Given the description of an element on the screen output the (x, y) to click on. 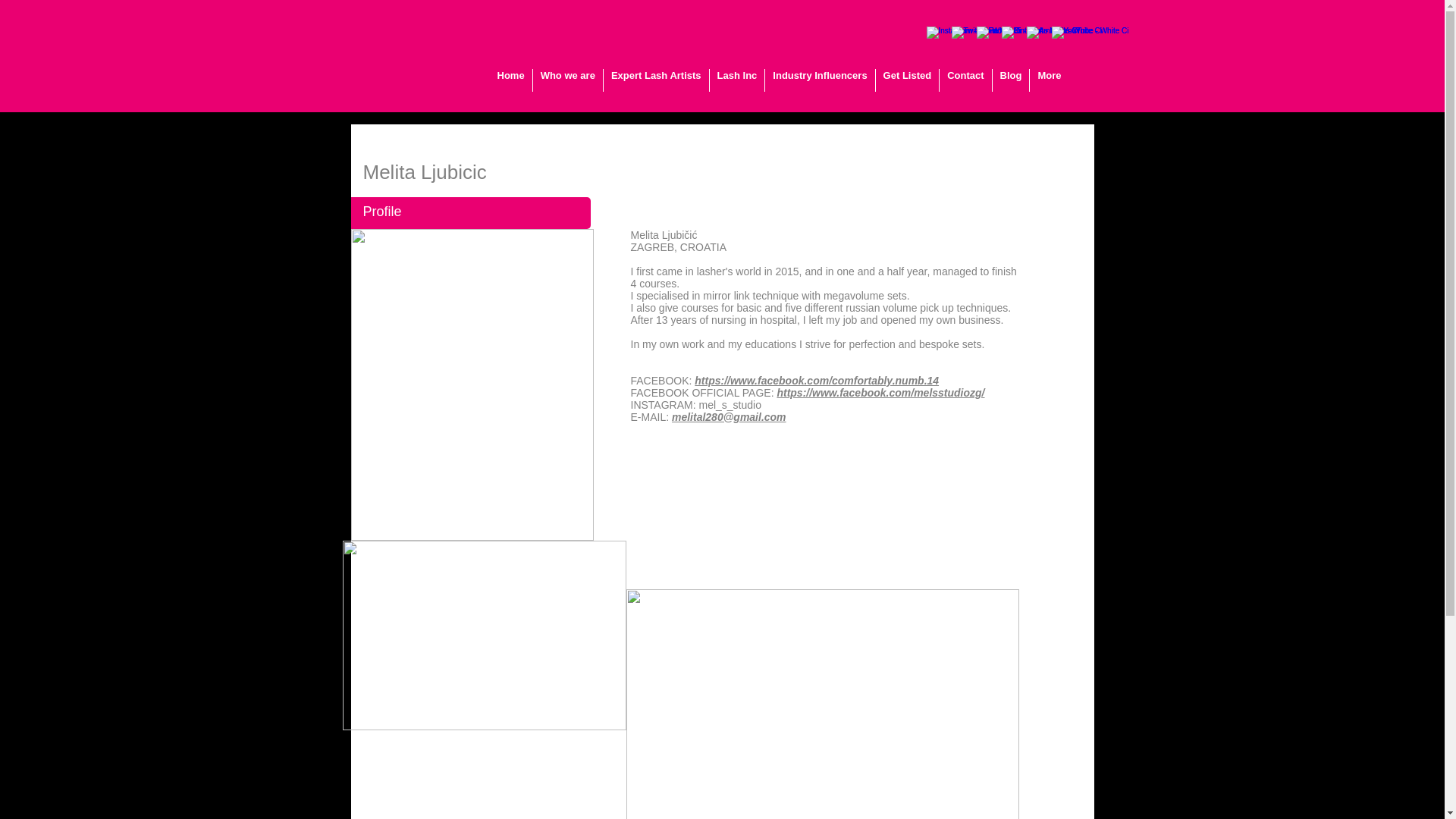
Who we are (567, 79)
Expert Lash Artists (656, 79)
Home (510, 79)
